Given the description of an element on the screen output the (x, y) to click on. 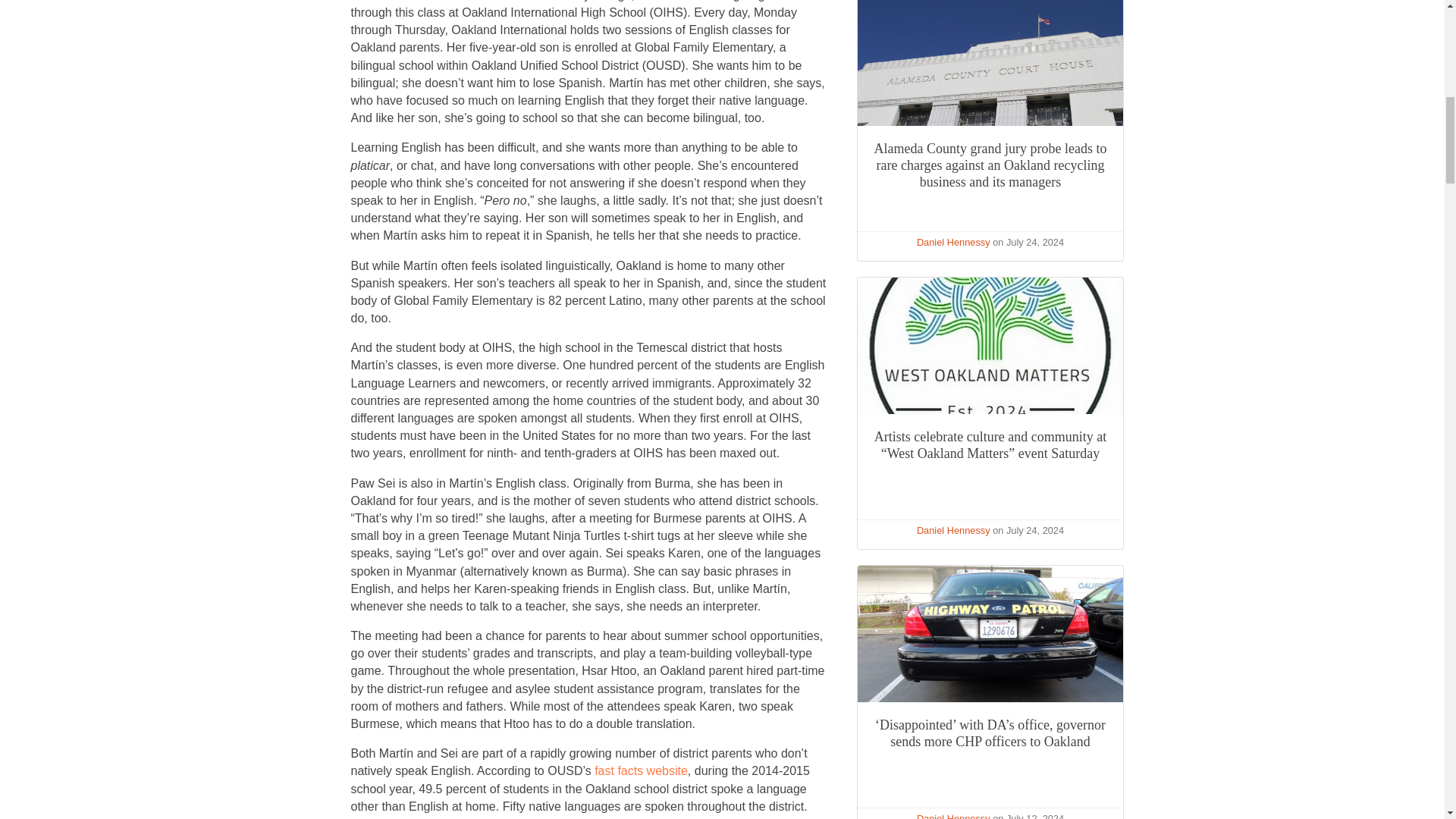
Daniel Hennessy (953, 242)
fast facts website (640, 770)
Daniel Hennessy (953, 530)
Daniel Hennessy (953, 816)
